Given the description of an element on the screen output the (x, y) to click on. 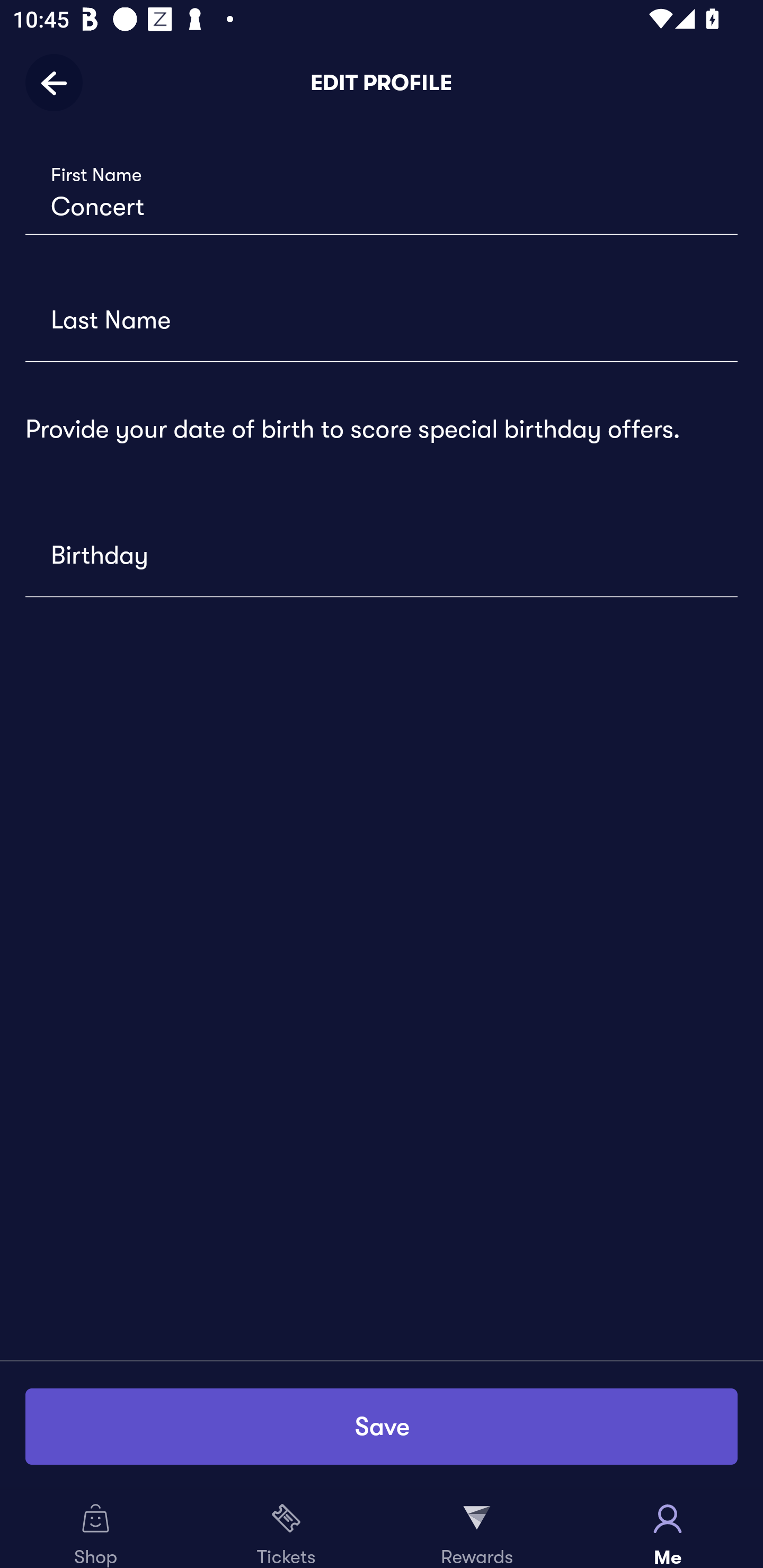
Back (60, 82)
Concert (381, 190)
  (381, 317)
  (381, 552)
Save (381, 1425)
Shop (95, 1529)
Tickets (285, 1529)
Rewards (476, 1529)
Me (667, 1529)
